Given the description of an element on the screen output the (x, y) to click on. 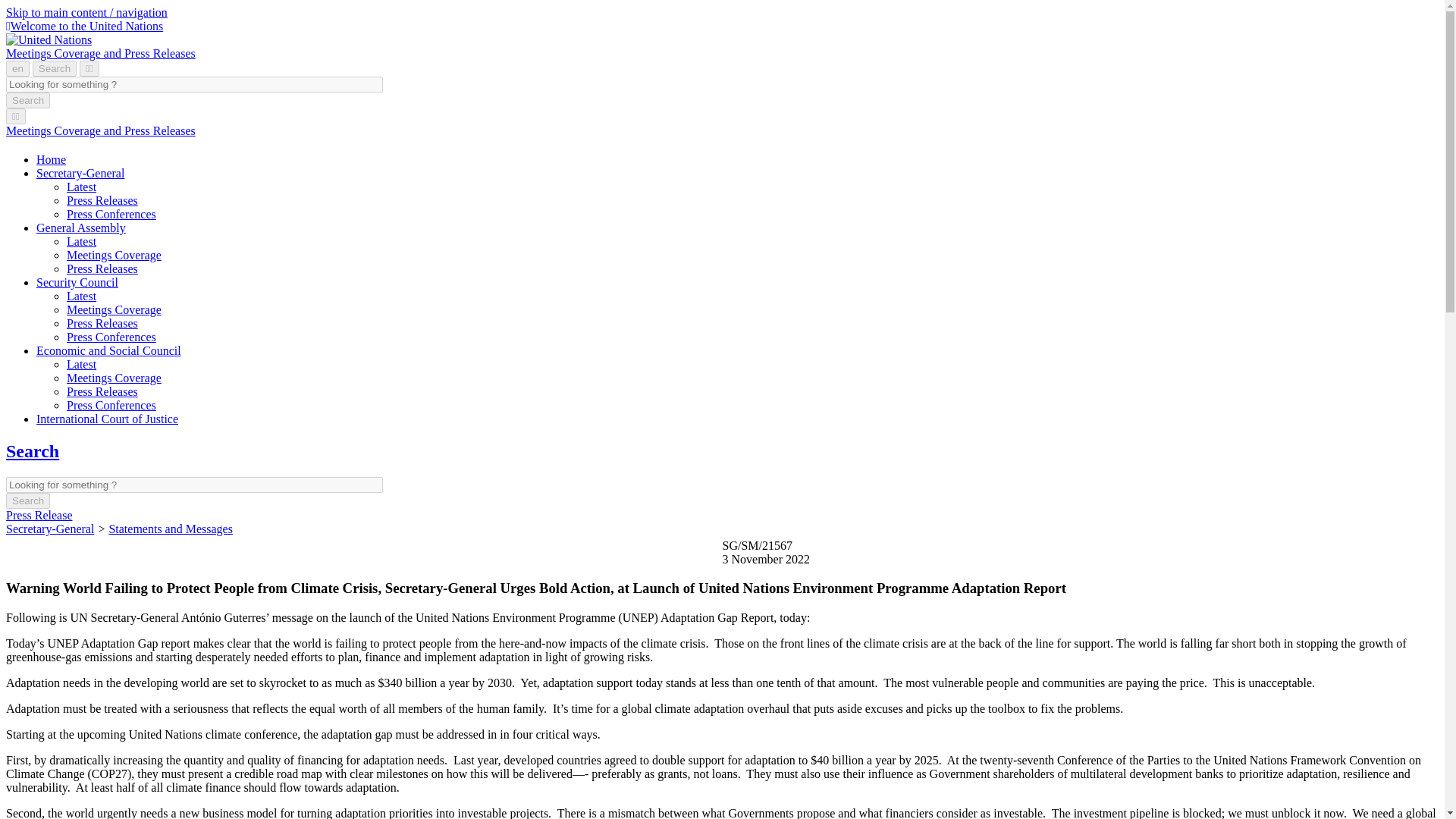
United Nations (84, 25)
Search (27, 500)
Home (50, 159)
Latest (81, 295)
Press Releases (102, 200)
Meetings Coverage (113, 254)
Latest (81, 186)
Press Releases (102, 268)
International Court of Justice (106, 418)
United Nations (48, 39)
Press Conferences (110, 214)
Meetings Coverage and Press Releases (100, 130)
Press Conferences (110, 404)
Meetings Coverage and Press Releases (100, 130)
Search (54, 68)
